Given the description of an element on the screen output the (x, y) to click on. 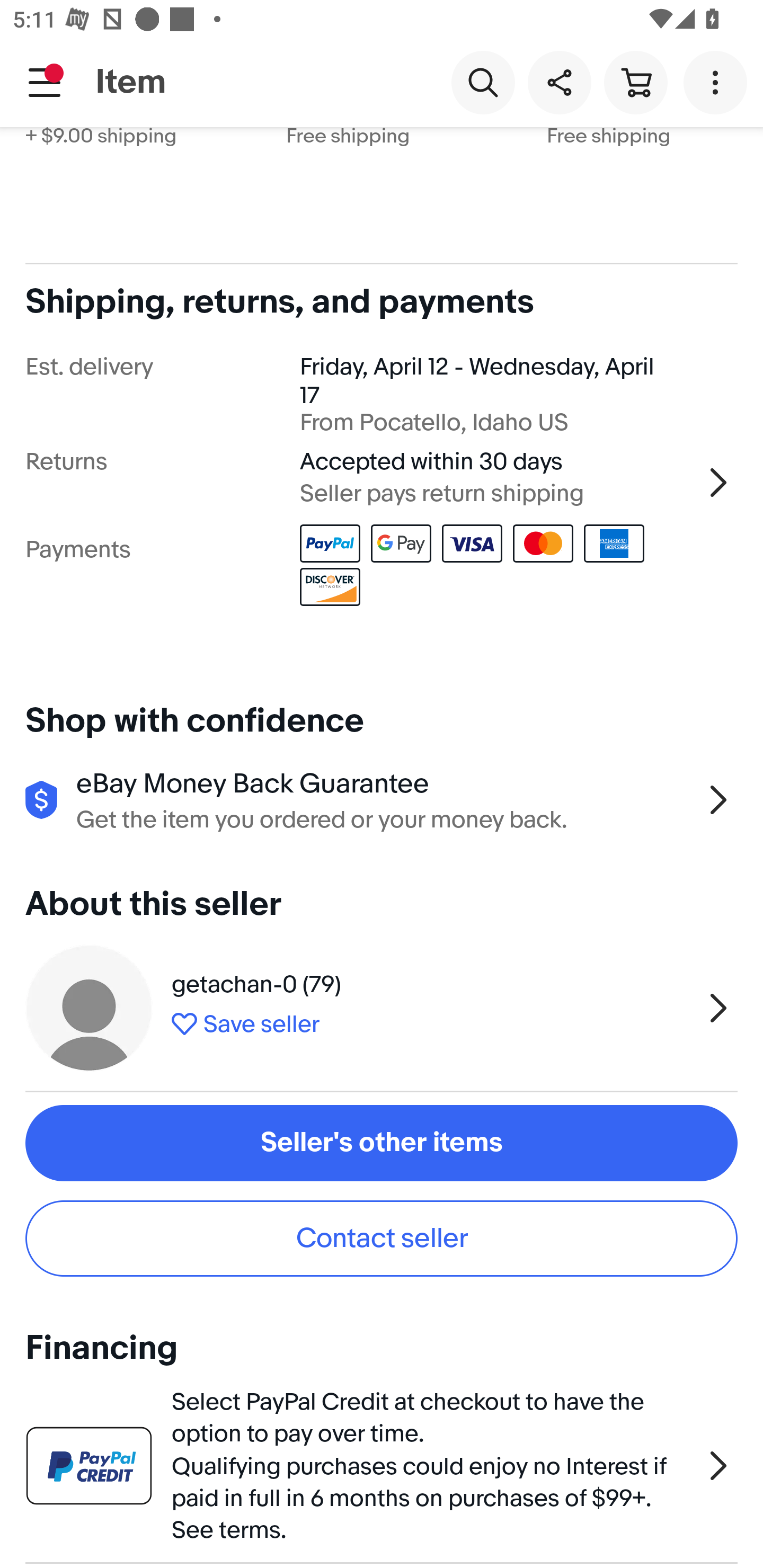
Main navigation, notification is pending, open (44, 82)
Search (482, 81)
Share this item (559, 81)
Cart button shopping cart (635, 81)
More options (718, 81)
+ $9.00 shipping (149, 181)
Free shipping (410, 181)
Free shipping (655, 181)
Save seller (431, 1020)
Seller's other items (381, 1142)
Contact seller (381, 1238)
